Given the description of an element on the screen output the (x, y) to click on. 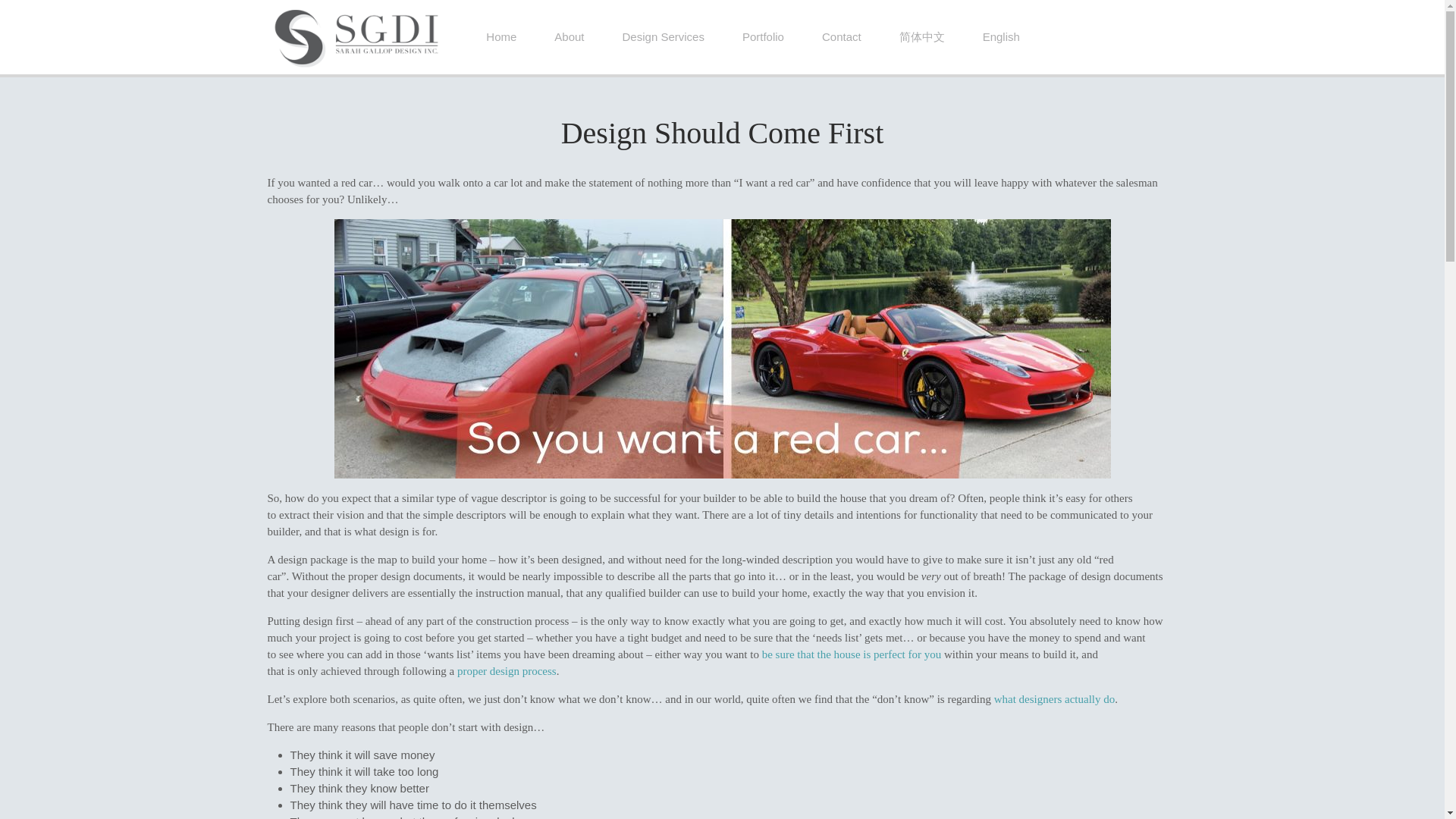
proper design process (506, 671)
Portfolio (763, 37)
English (1001, 37)
what designers actually do (1054, 698)
Contact (841, 37)
Home (501, 37)
About (568, 37)
be sure that the house is perfect for you (851, 654)
Design Services (663, 37)
English (1001, 37)
